Given the description of an element on the screen output the (x, y) to click on. 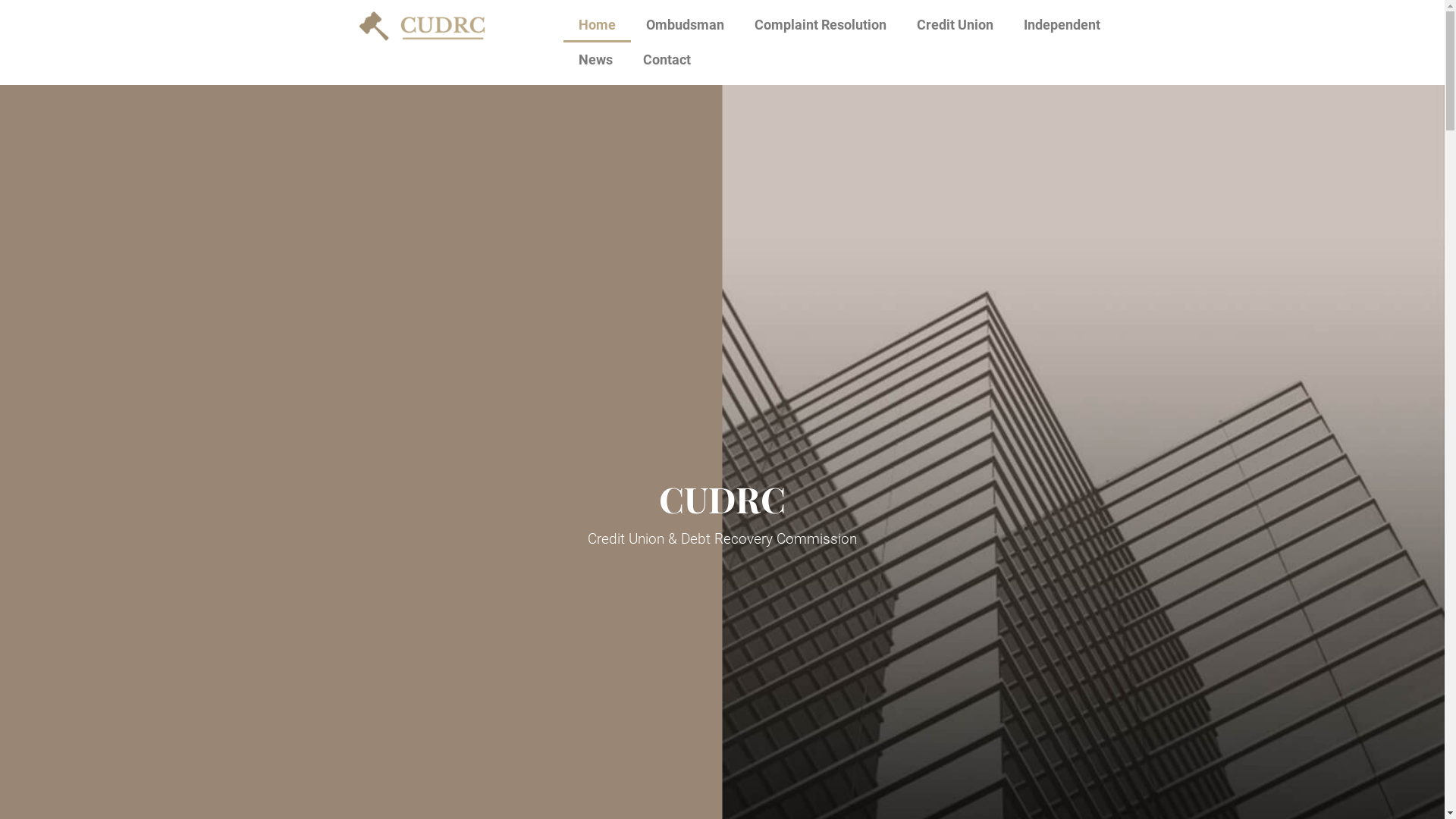
News Element type: text (595, 59)
Credit Union Element type: text (954, 24)
Contact Element type: text (666, 59)
Home Element type: text (596, 24)
Independent Element type: text (1061, 24)
Complaint Resolution Element type: text (820, 24)
Ombudsman Element type: text (684, 24)
